Given the description of an element on the screen output the (x, y) to click on. 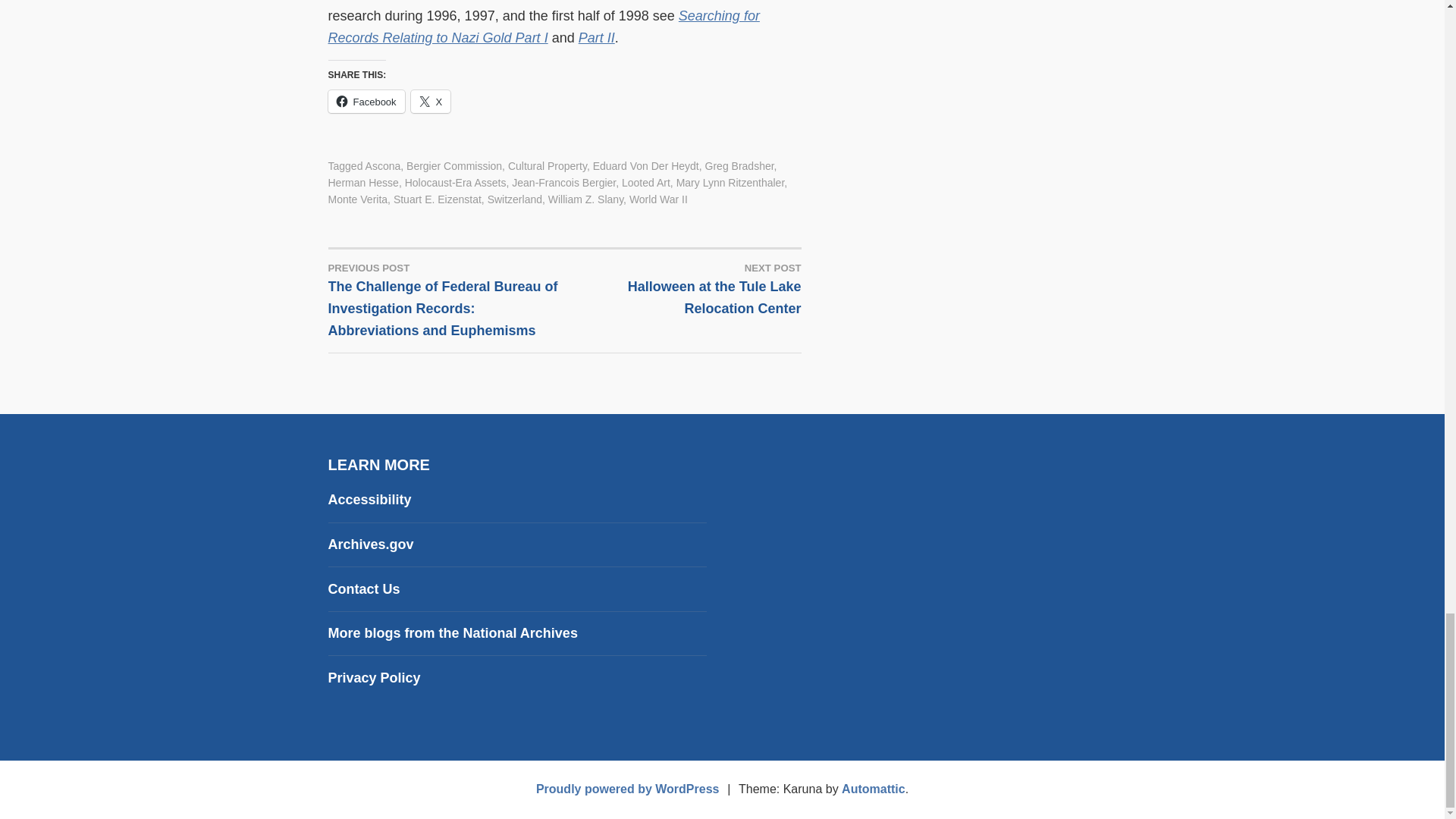
Looted Art (645, 182)
Ascona (383, 165)
Part II (596, 37)
Switzerland (514, 199)
Holocaust-Era Assets (455, 182)
Eduard Von Der Heydt (645, 165)
Cultural Property (547, 165)
Jean-Francois Bergier (563, 182)
Click to share on Facebook (365, 101)
Searching for Records Relating to Nazi Gold Part I (542, 26)
